Given the description of an element on the screen output the (x, y) to click on. 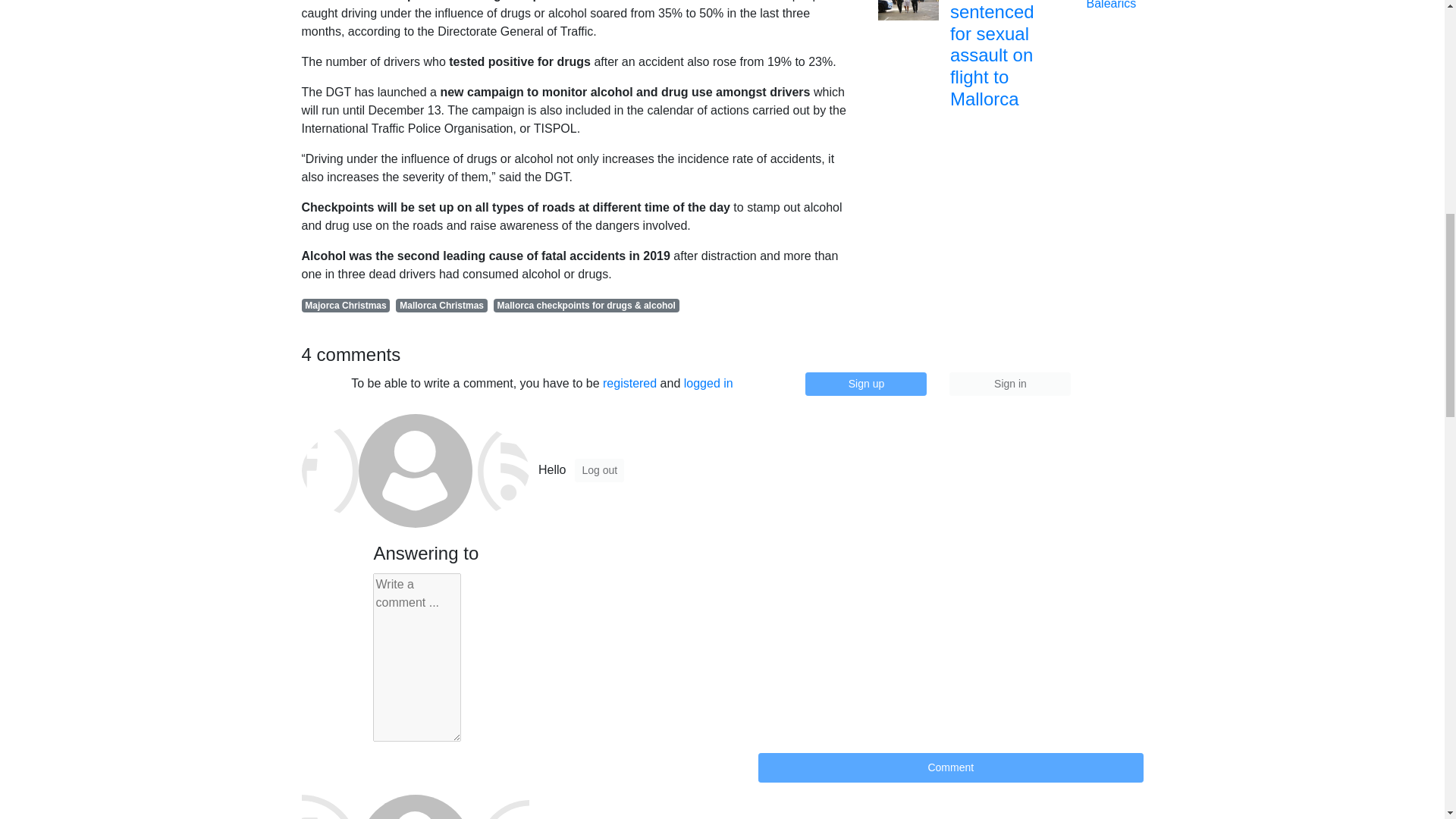
Briton sentenced for sexual assault on flight to Mallorca (908, 2)
